Given the description of an element on the screen output the (x, y) to click on. 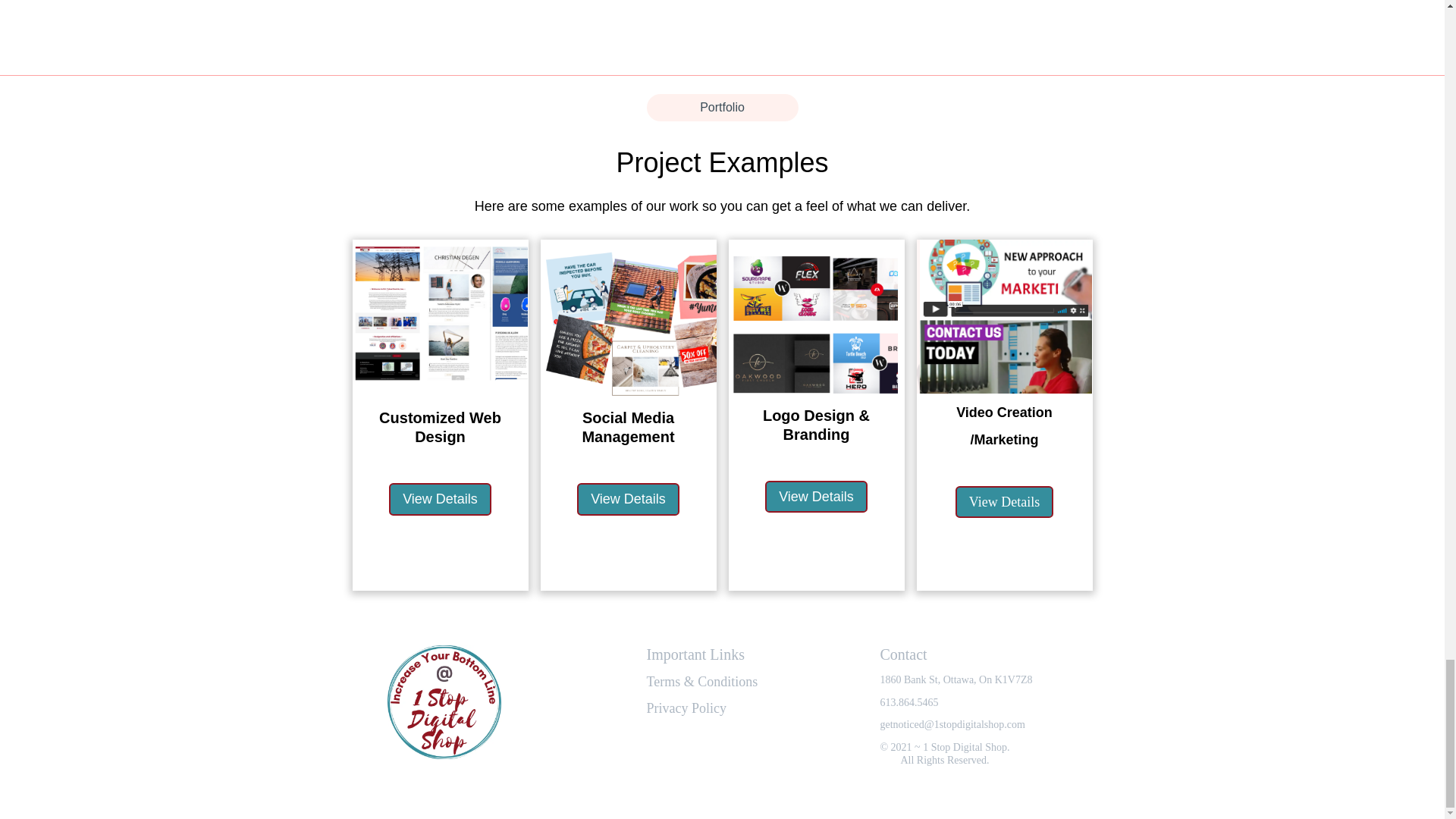
1860 Bank St, Ottawa, On K1V7Z8 (955, 680)
View Details (627, 499)
Privacy Policy (686, 708)
613.864.5465 (908, 703)
View Details (440, 499)
View Details (816, 496)
View Details (1003, 502)
